Given the description of an element on the screen output the (x, y) to click on. 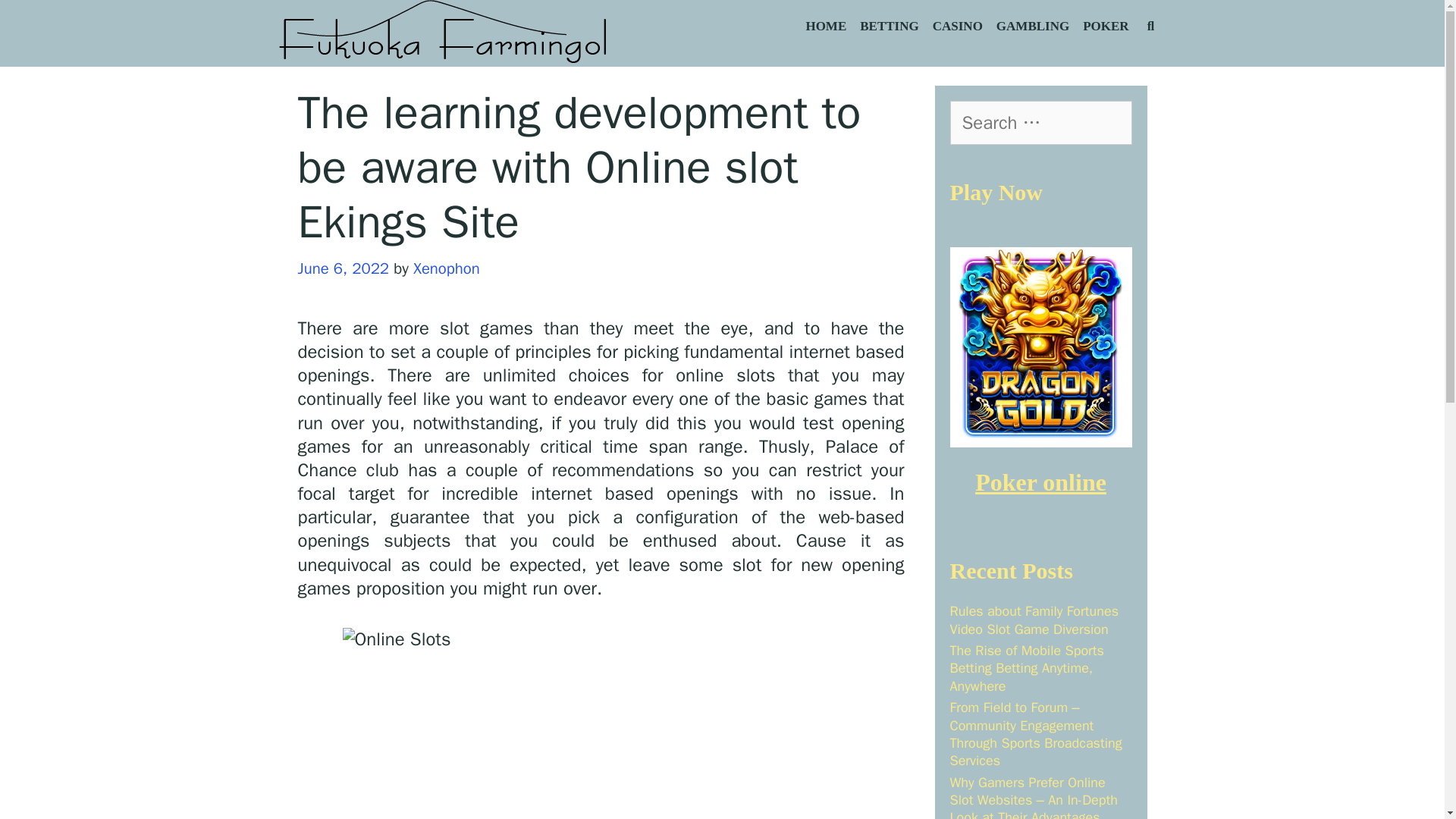
Search (183, 26)
Search (40, 20)
HOME (825, 26)
View all posts by Xenophon (446, 268)
Search for: (1040, 122)
Poker online (1040, 482)
Xenophon (446, 268)
4:29 am (342, 268)
Rules about Family Fortunes Video Slot Game Diversion (1033, 619)
Fukuoka Farmingol (443, 33)
June 6, 2022 (342, 268)
The Rise of Mobile Sports Betting Betting Anytime, Anywhere (1026, 668)
POKER (1105, 26)
BETTING (888, 26)
CASINO (958, 26)
